Given the description of an element on the screen output the (x, y) to click on. 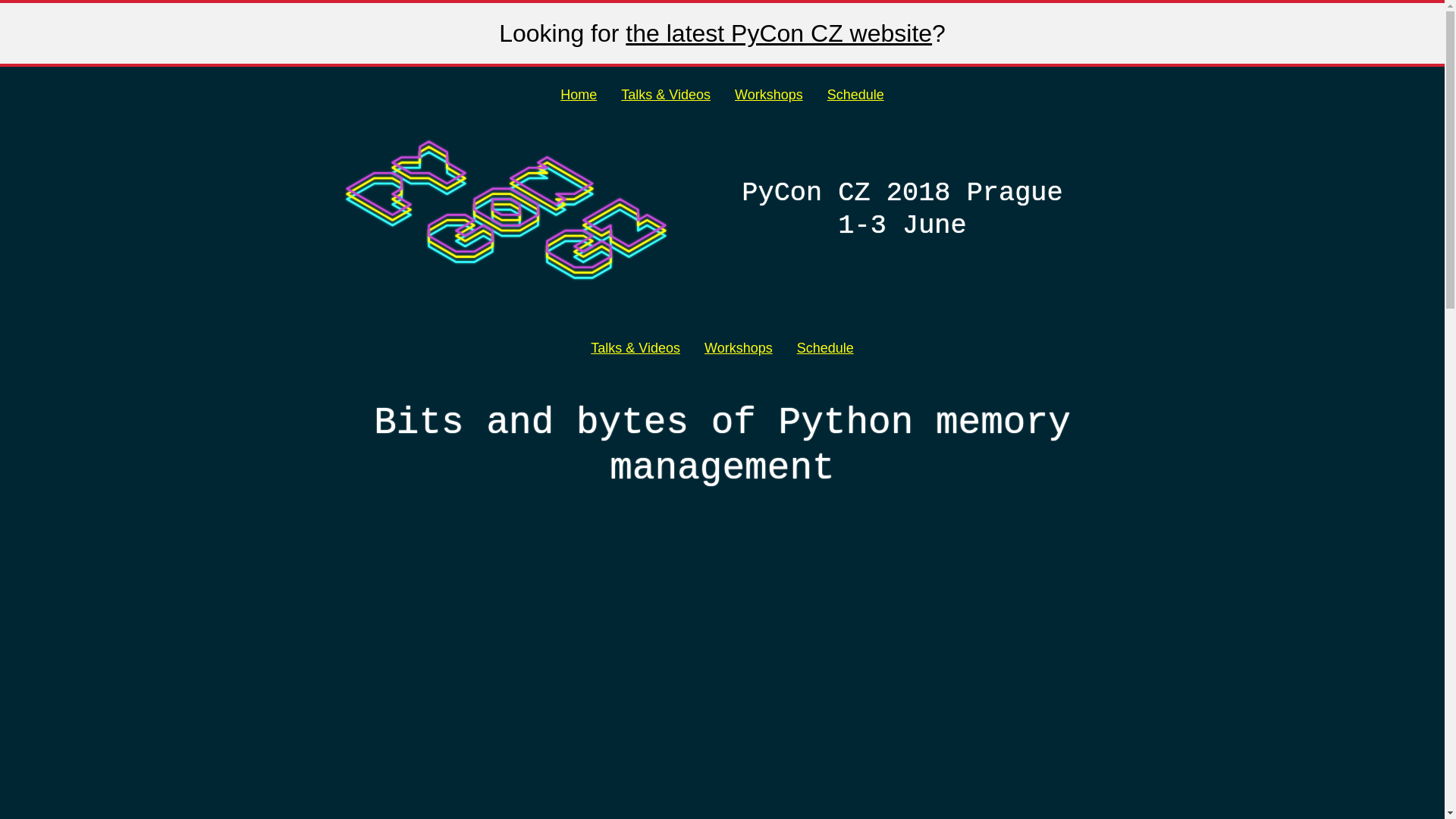
the latest PyCon CZ website (778, 32)
Workshops (738, 348)
Schedule (825, 348)
Schedule (855, 94)
Workshops (768, 94)
Home (578, 94)
